Given the description of an element on the screen output the (x, y) to click on. 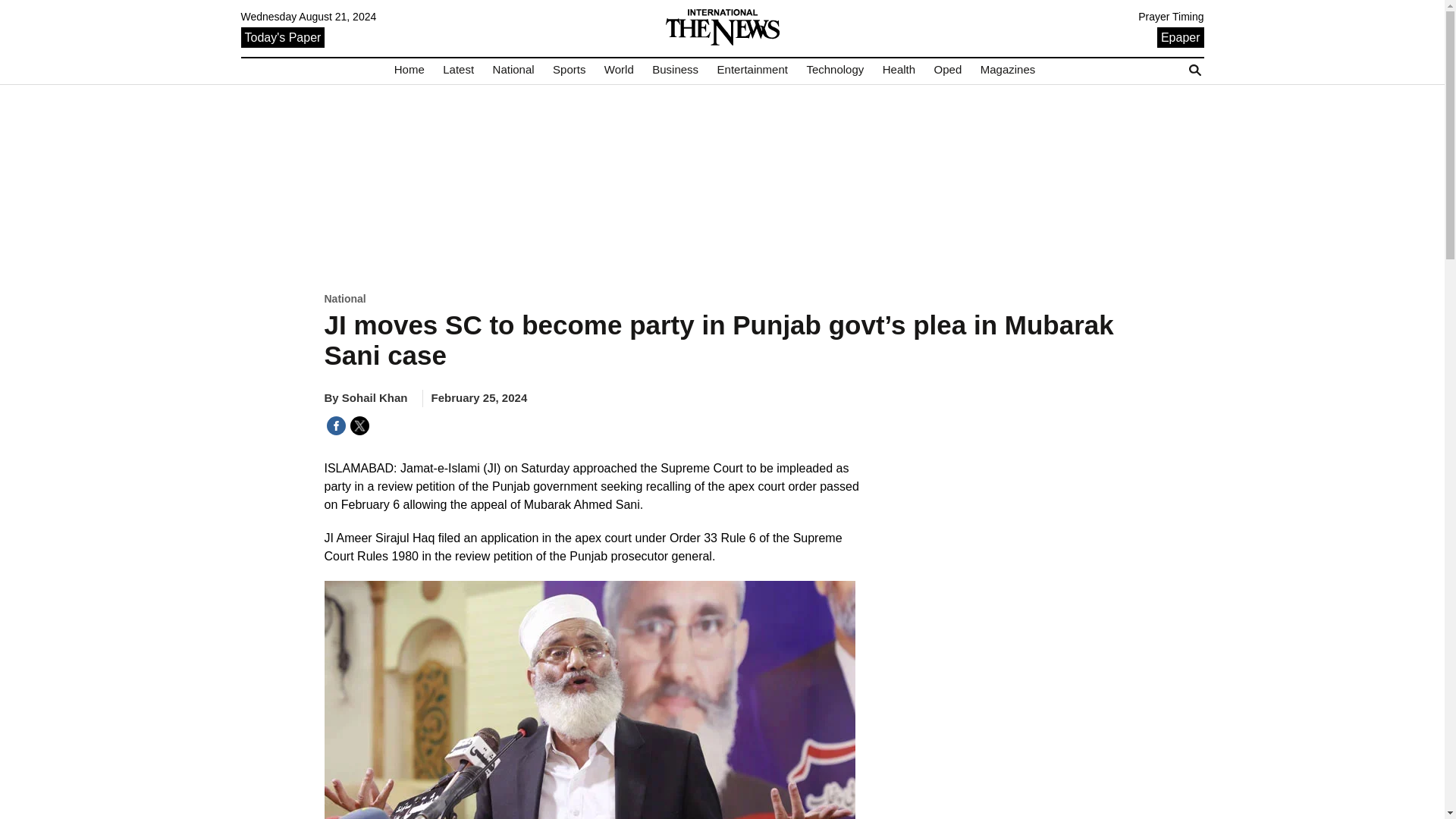
Sports (568, 69)
Epaper (1180, 37)
Health (899, 69)
Prayer Timing (1171, 16)
Entertainment (752, 69)
Business (675, 69)
3rd party ad content (721, 186)
Latest (458, 69)
National (512, 69)
Home (409, 69)
